Given the description of an element on the screen output the (x, y) to click on. 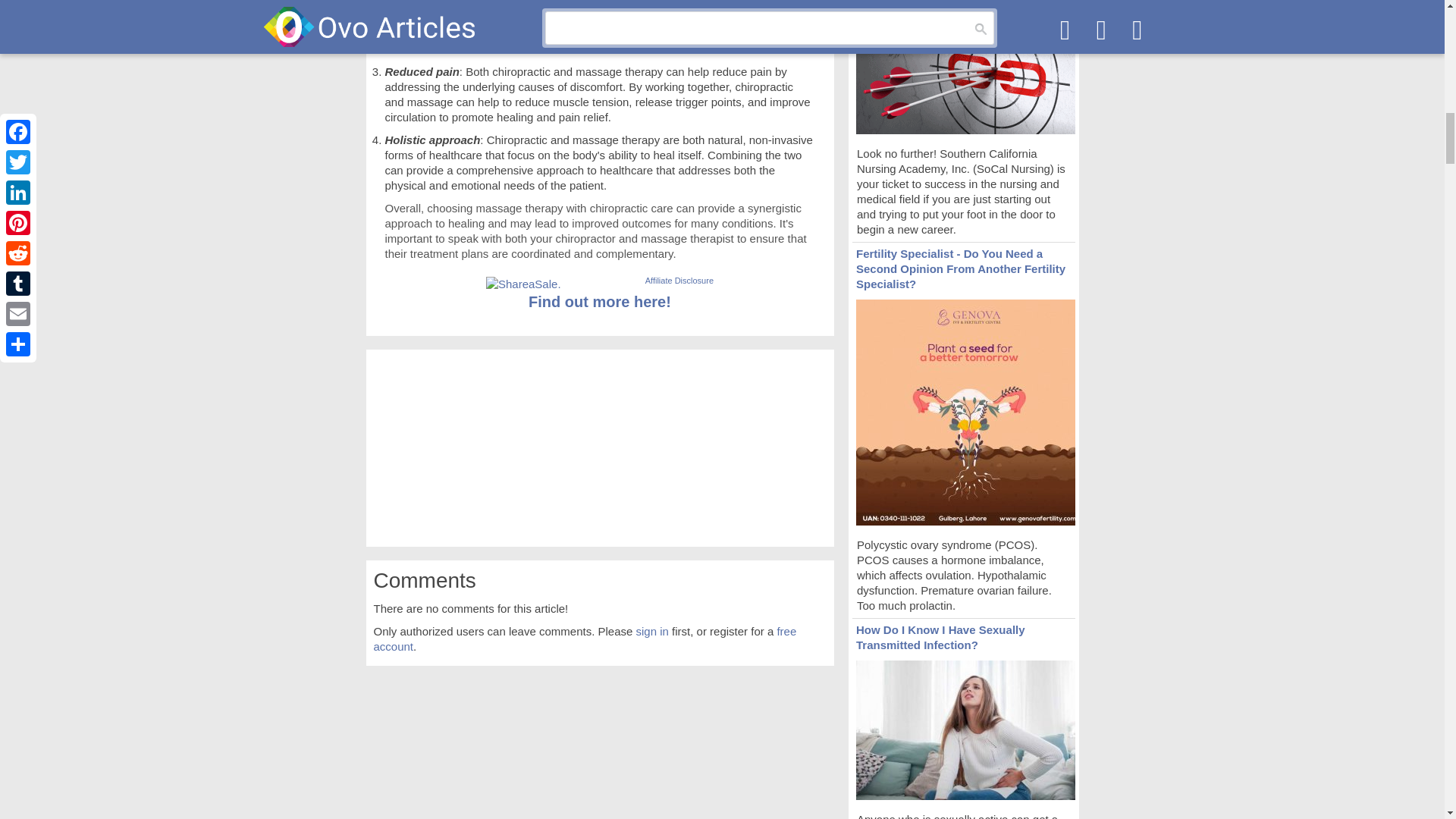
Affiliate Disclosure (679, 280)
sign in (652, 631)
Find out more here! (599, 301)
free account (584, 638)
